Given the description of an element on the screen output the (x, y) to click on. 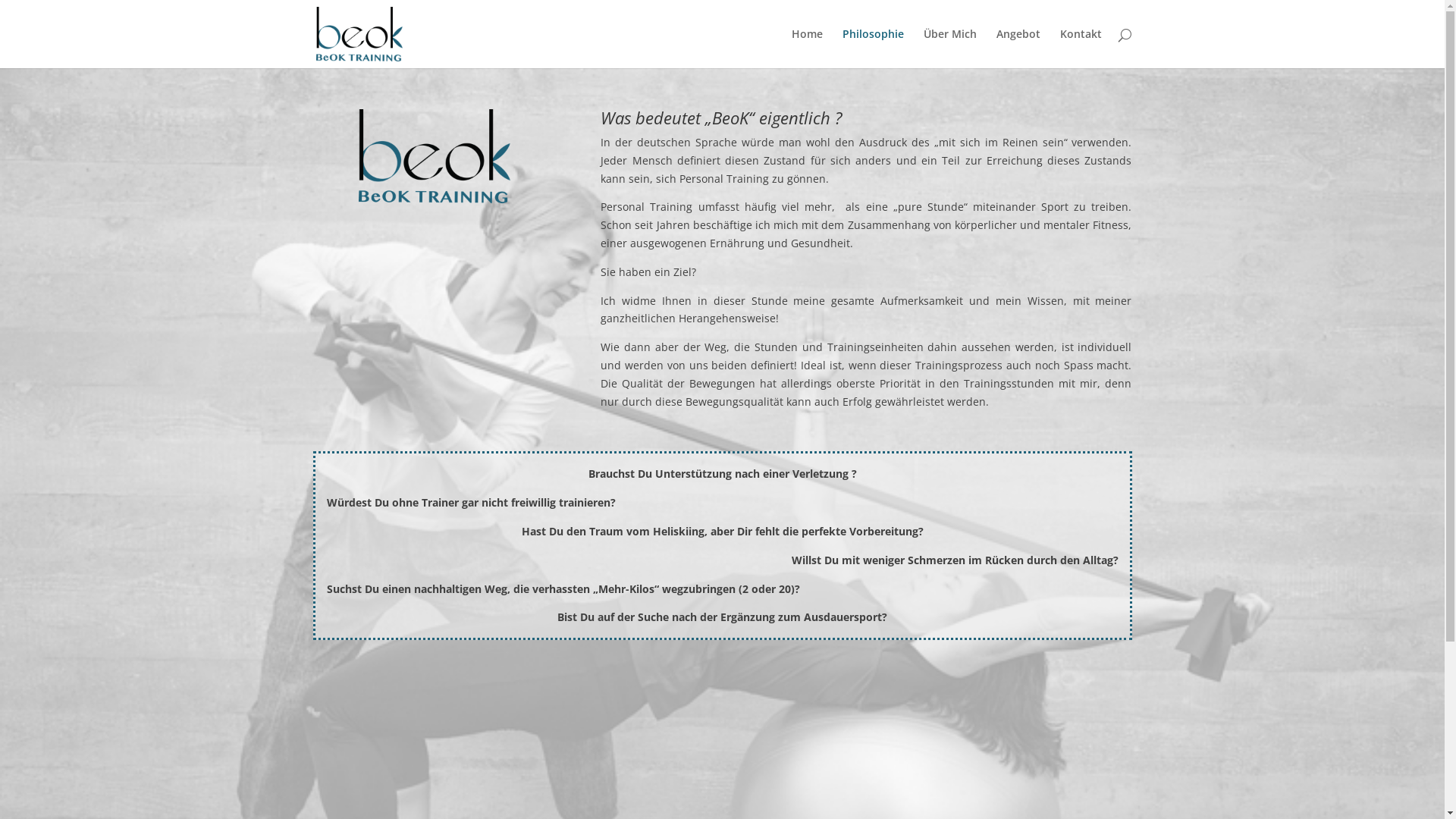
Philosophie Element type: text (872, 48)
Home Element type: text (806, 48)
Kontakt Element type: text (1080, 48)
Angebot Element type: text (1018, 48)
